Given the description of an element on the screen output the (x, y) to click on. 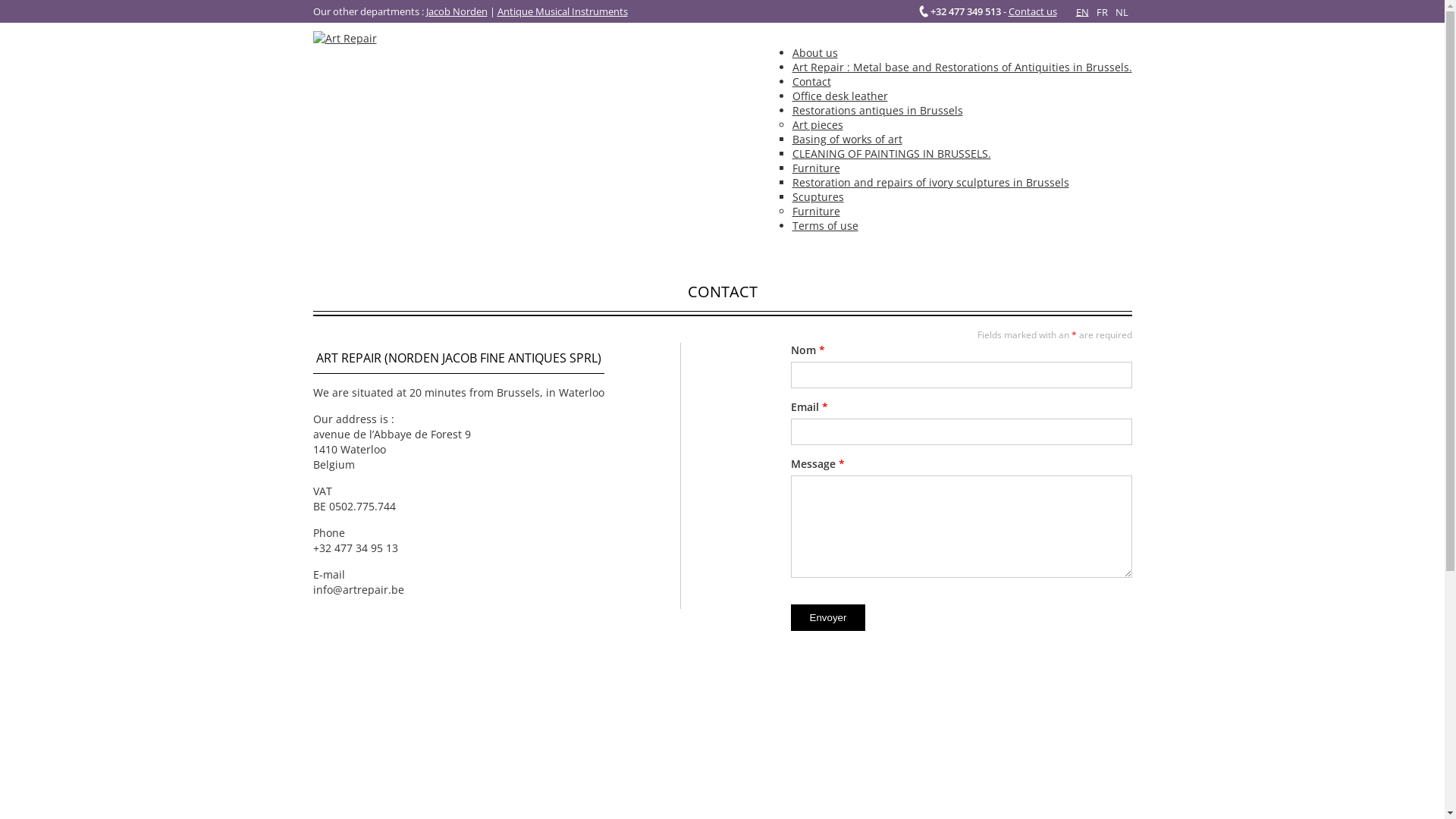
Contact us Element type: text (1032, 11)
Restoration and repairs of ivory sculptures in Brussels Element type: text (929, 182)
Basing of works of art Element type: text (846, 138)
Office desk leather Element type: text (839, 95)
+32 477 349 513 Element type: text (960, 11)
NL Element type: text (1121, 12)
About us Element type: text (814, 52)
Jacob Norden Element type: text (456, 11)
EN Element type: text (1082, 12)
Scuptures Element type: text (817, 196)
FR Element type: text (1101, 12)
Antique Musical Instruments Element type: text (562, 11)
CLEANING OF PAINTINGS IN BRUSSELS. Element type: text (890, 153)
Contact Element type: text (810, 81)
Furniture Element type: text (815, 167)
Terms of use Element type: text (824, 225)
Art pieces Element type: text (816, 124)
Furniture Element type: text (815, 210)
Envoyer Element type: text (827, 617)
Restorations antiques in Brussels Element type: text (876, 110)
